Given the description of an element on the screen output the (x, y) to click on. 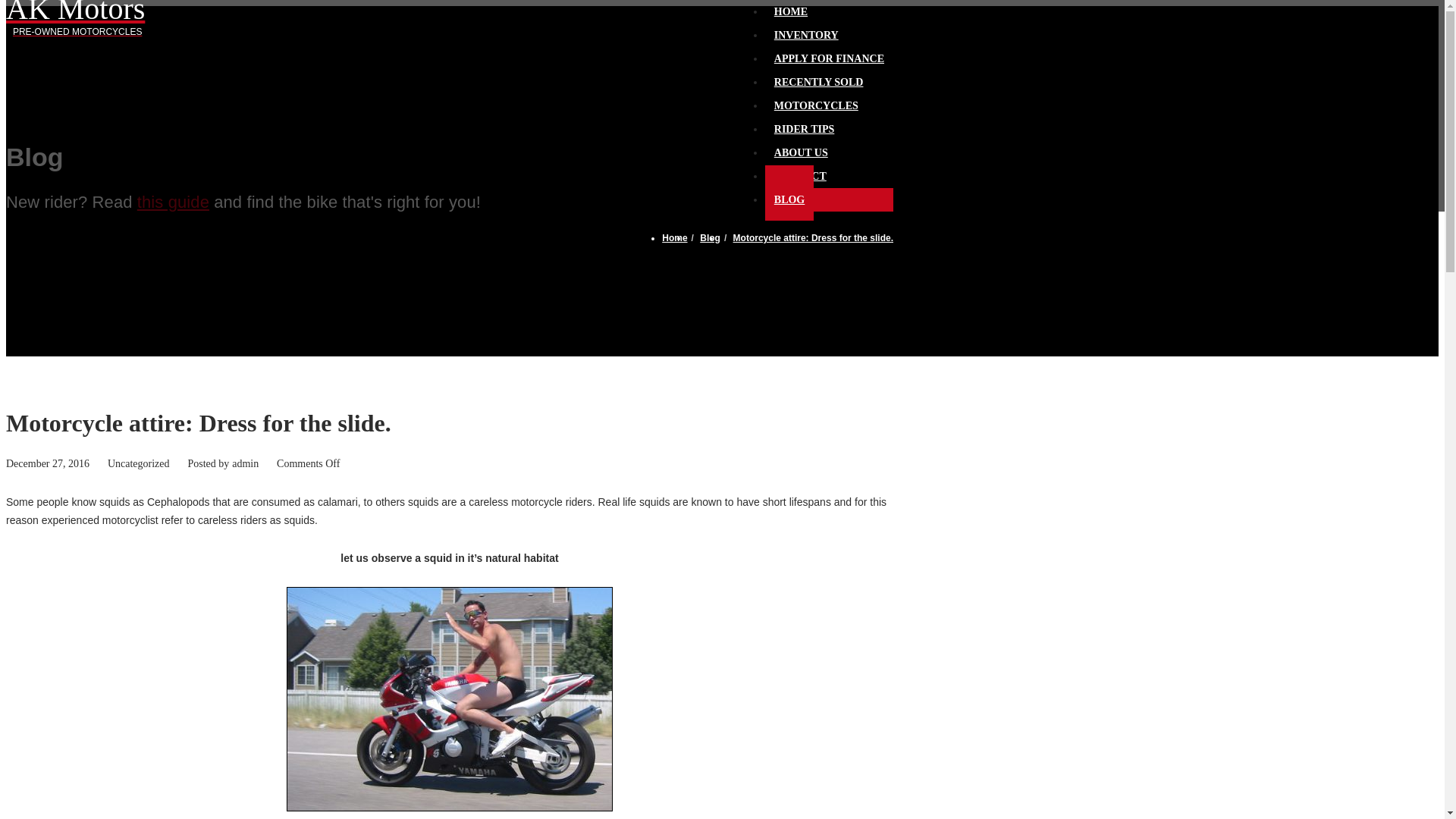
Blog (710, 237)
RECENTLY SOLD (818, 75)
APPLY FOR FINANCE (829, 51)
Home (76, 20)
this guide (674, 237)
ABOUT US (172, 201)
INVENTORY (801, 145)
Uncategorized (806, 28)
CONTACT (138, 463)
